Given the description of an element on the screen output the (x, y) to click on. 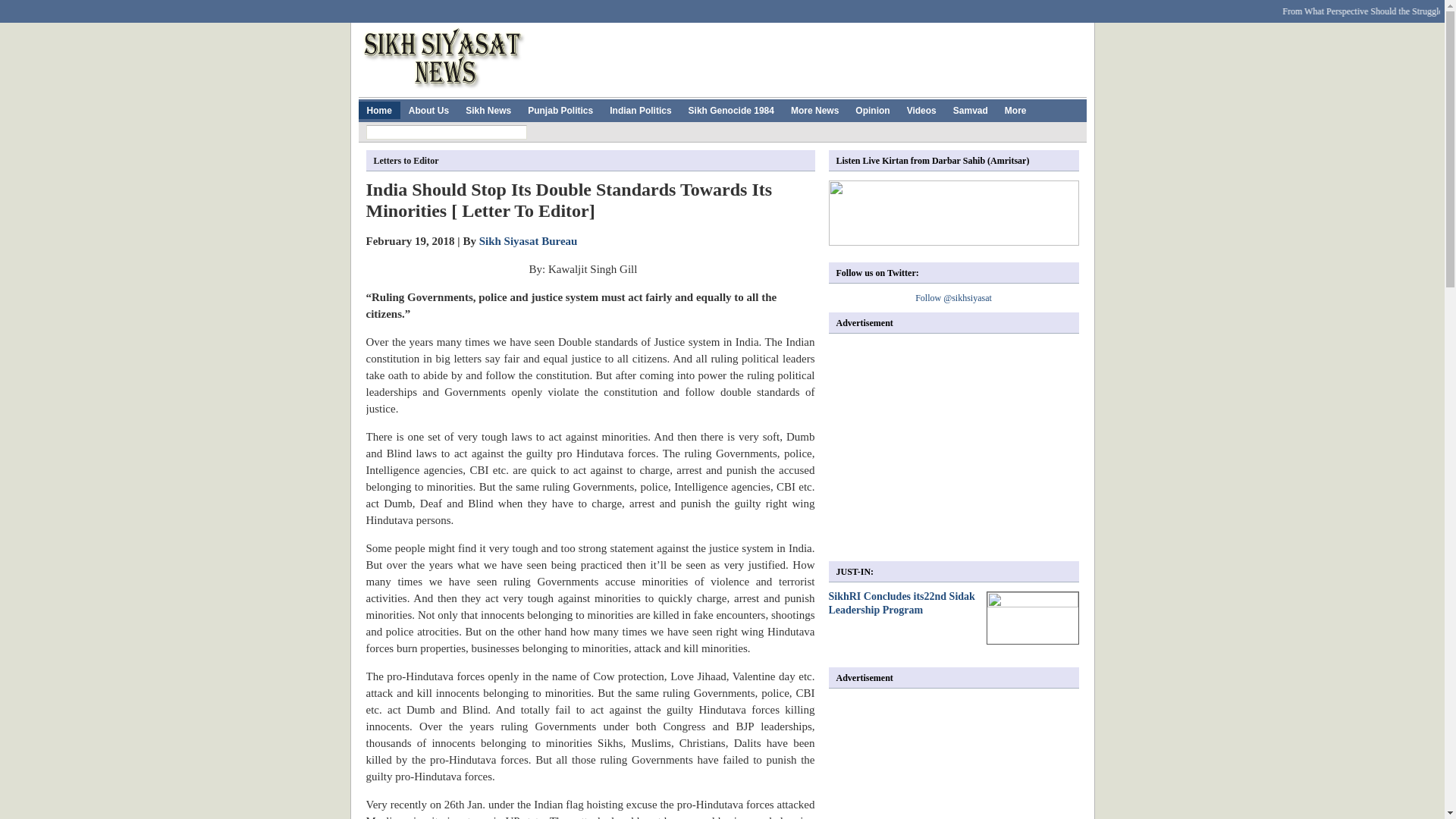
About Us (428, 109)
Punjab Politics (560, 109)
Subscribe to our RSS feed (1046, 6)
Samvad (969, 109)
Twitter (502, 6)
Opinion (872, 109)
Videos (921, 109)
More News (815, 109)
Sikh Genocide 1984 (731, 109)
Sikh News (488, 109)
